Given the description of an element on the screen output the (x, y) to click on. 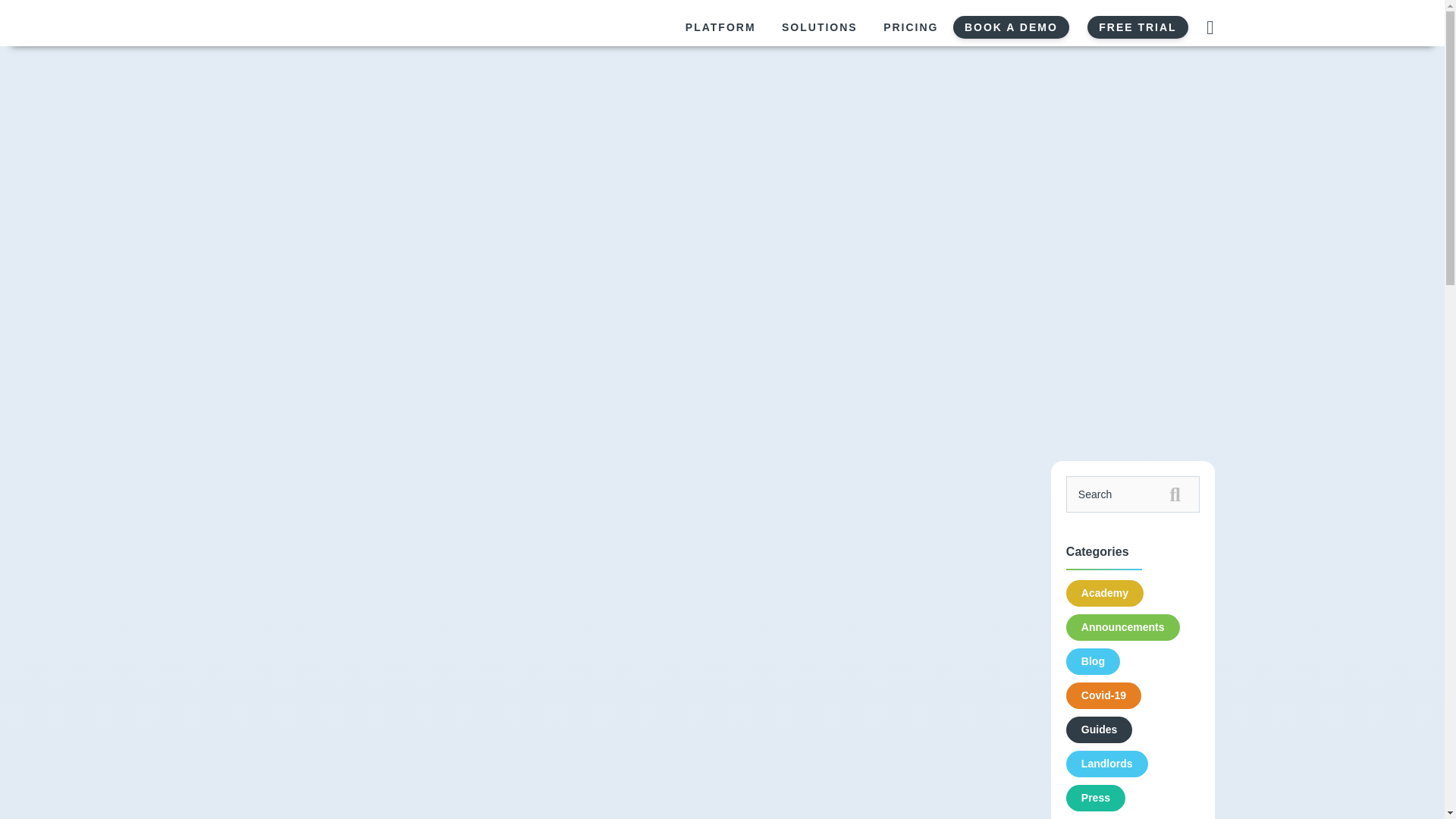
PLATFORM (720, 27)
Landlords (1106, 764)
FREE TRIAL (1137, 26)
Press (1095, 797)
Search (1132, 493)
PRICING (910, 27)
BOOK A DEMO (1010, 26)
Search (1132, 493)
SOLUTIONS (819, 27)
Academy (1103, 592)
Announcements (1122, 627)
Guides (1098, 729)
Blog (1092, 661)
Covid-19 (1103, 695)
